Given the description of an element on the screen output the (x, y) to click on. 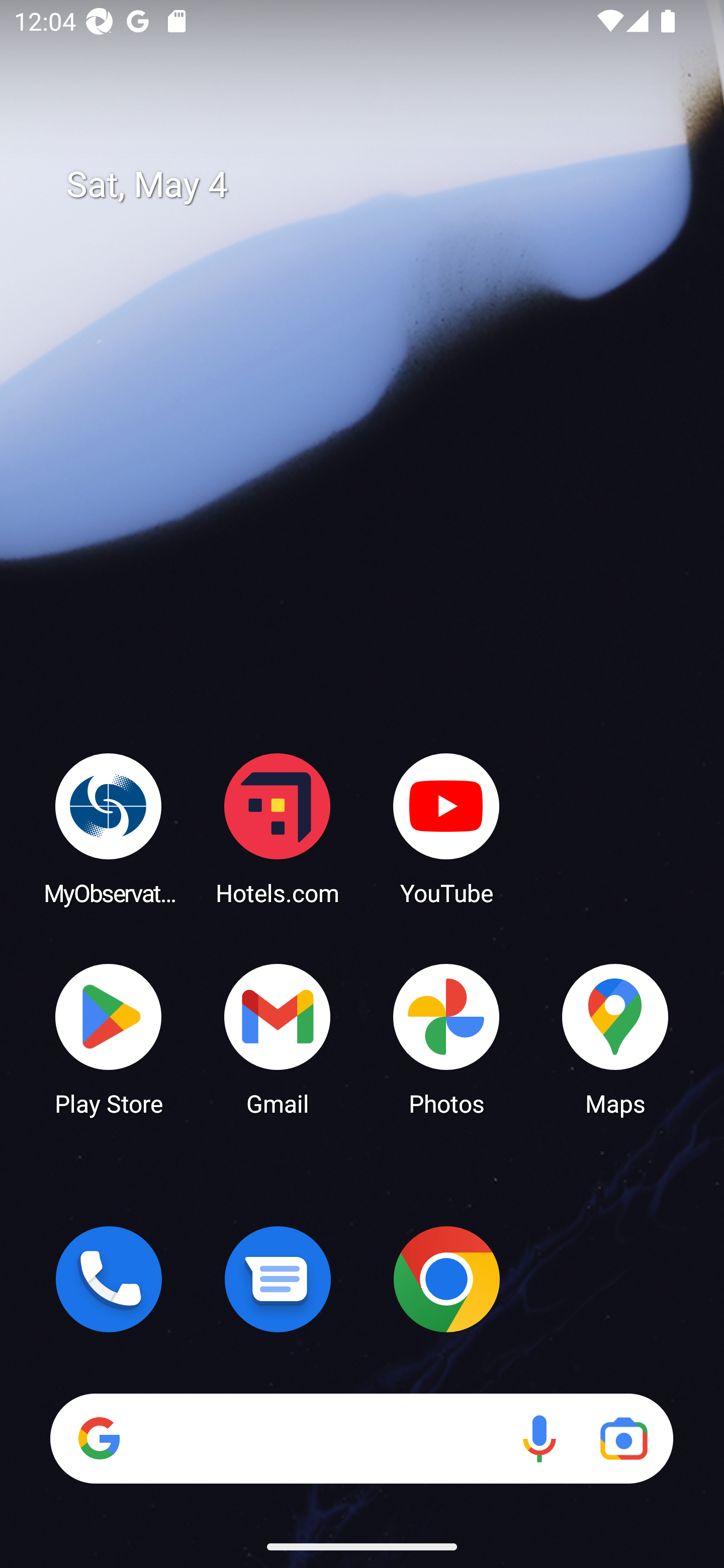
Sat, May 4 (375, 184)
MyObservatory (108, 828)
Hotels.com (277, 828)
YouTube (445, 828)
Play Store (108, 1038)
Gmail (277, 1038)
Photos (445, 1038)
Maps (615, 1038)
Phone (108, 1279)
Messages (277, 1279)
Chrome (446, 1279)
Search Voice search Google Lens (361, 1438)
Voice search (539, 1438)
Google Lens (623, 1438)
